Given the description of an element on the screen output the (x, y) to click on. 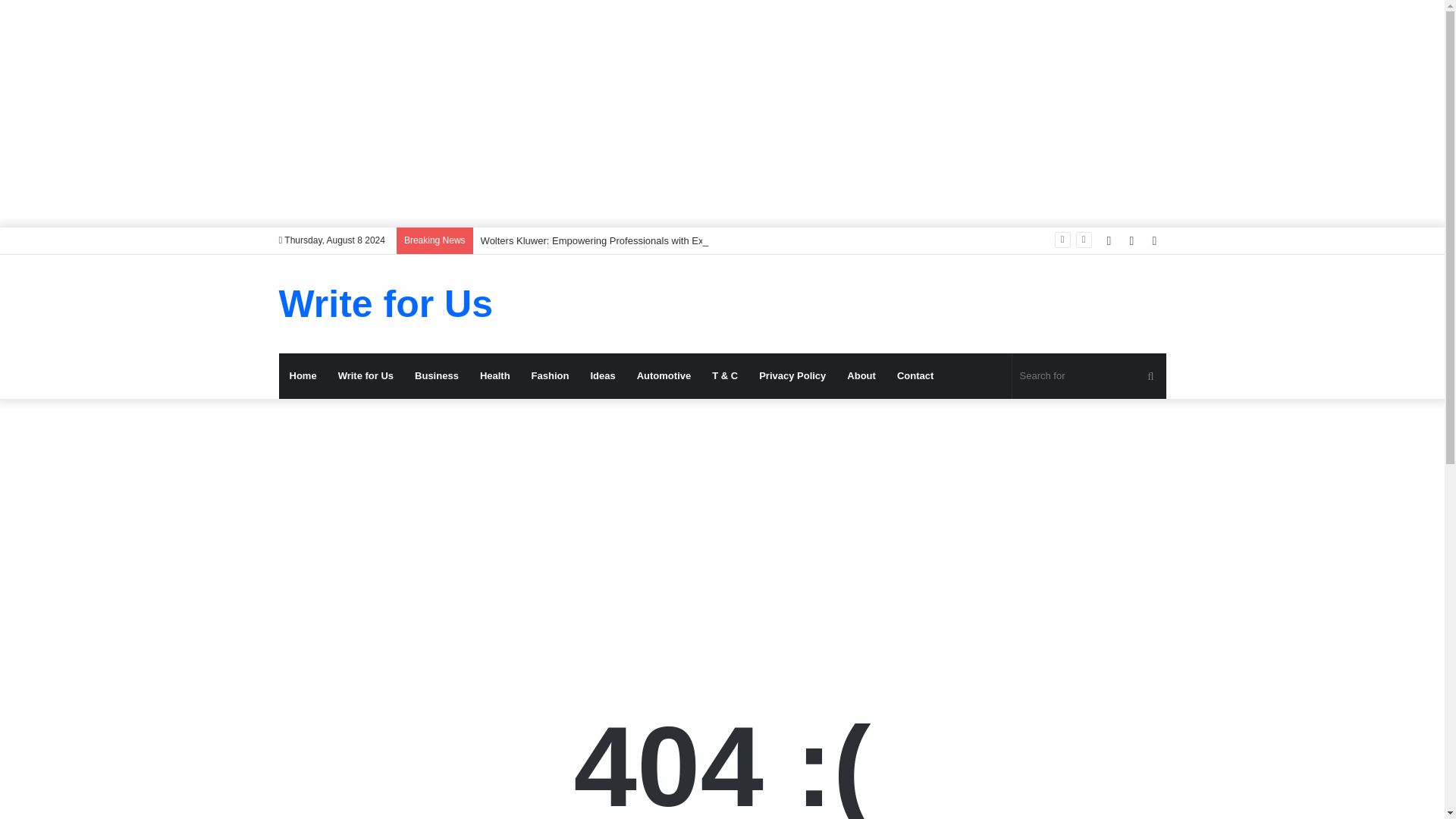
Privacy Policy (791, 375)
Write for Us (386, 303)
Automotive (663, 375)
Contact (914, 375)
Search for (1088, 375)
Home (303, 375)
Write for Us (386, 303)
Write for Us (365, 375)
Health (494, 375)
